Given the description of an element on the screen output the (x, y) to click on. 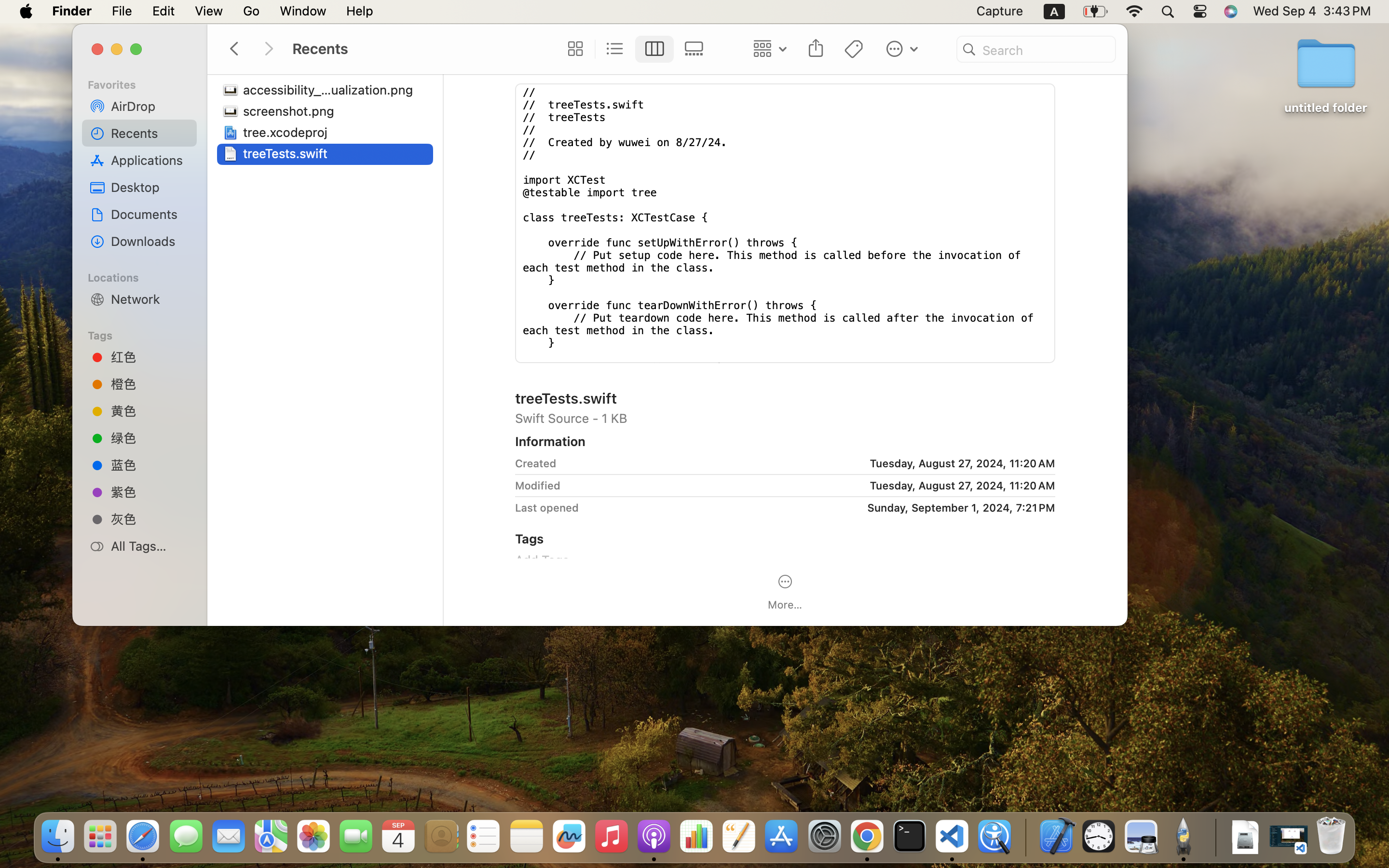
0.4285714328289032 Element type: AXDockItem (1024, 836)
0.0 Element type: AXValueIndicator (1049, 167)
Recents Element type: AXStaticText (149, 132)
Desktop Element type: AXStaticText (149, 186)
0 Element type: AXRadioButton (572, 48)
